Given the description of an element on the screen output the (x, y) to click on. 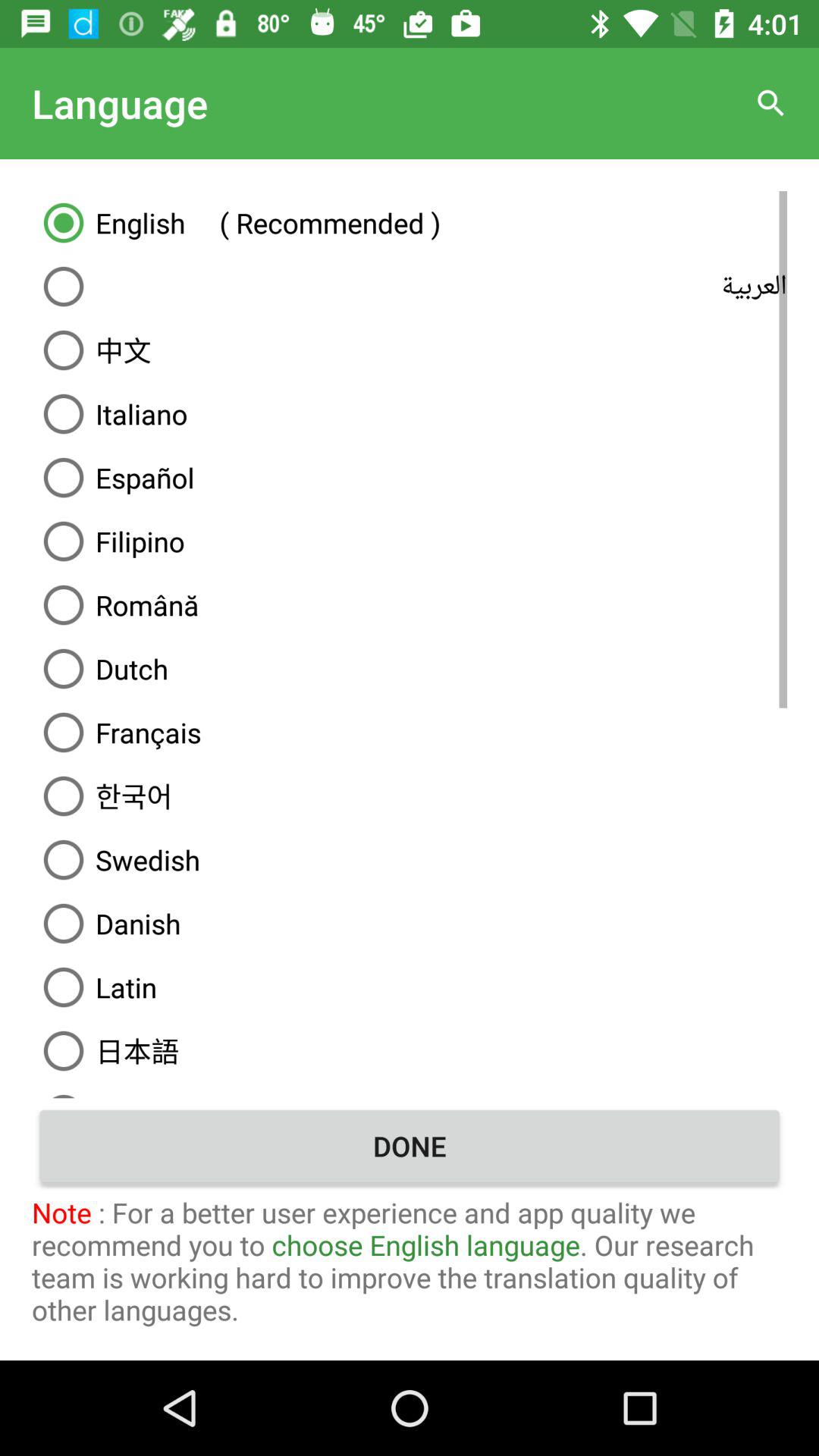
turn on icon above note for a (409, 1145)
